Given the description of an element on the screen output the (x, y) to click on. 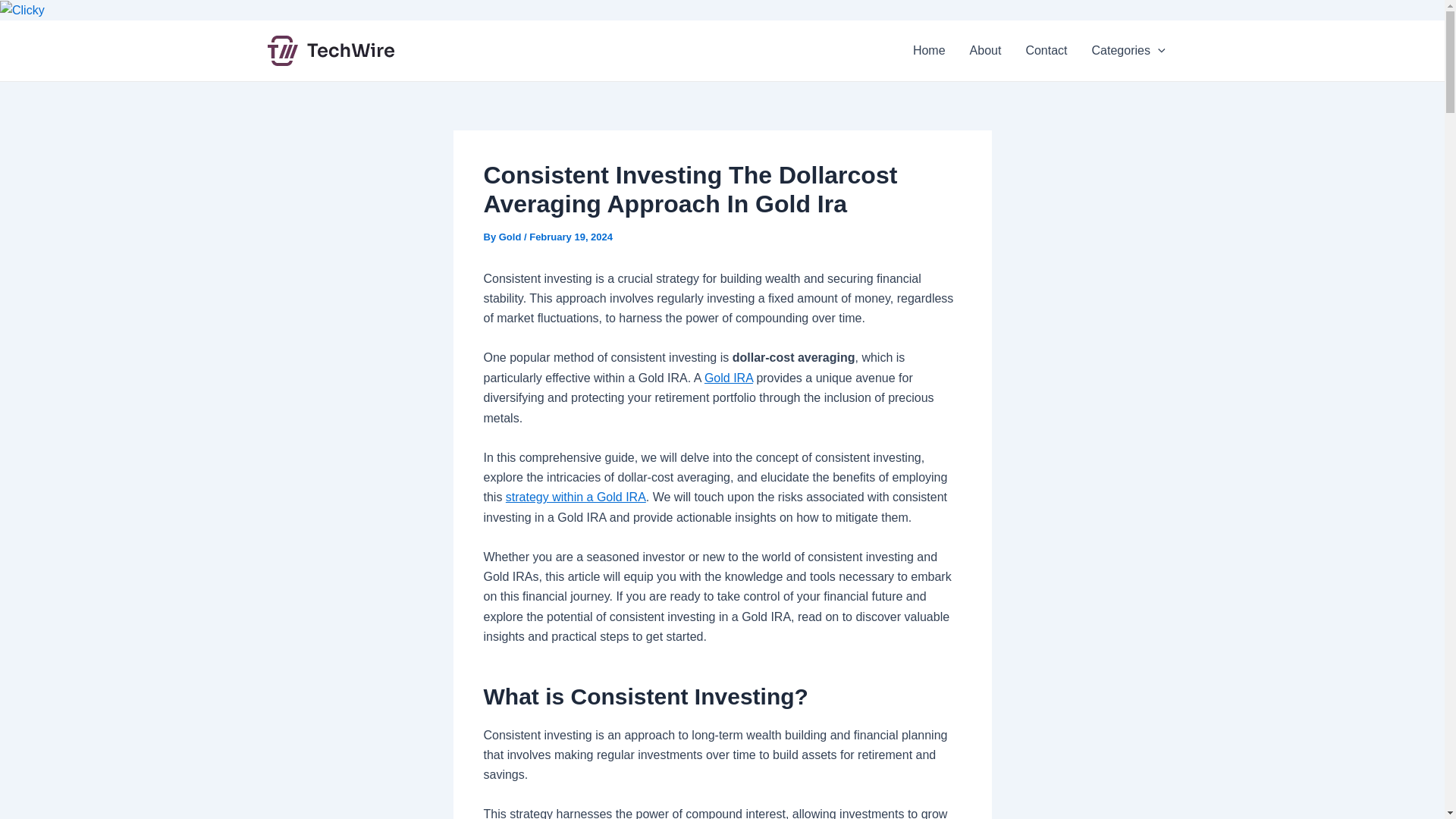
Contact (1045, 50)
Gold (511, 236)
Categories (1128, 50)
About (985, 50)
View all posts by Gold (511, 236)
Gold IRA (728, 377)
Web Analytics (22, 9)
strategy within a Gold IRA (575, 496)
Home (929, 50)
